Given the description of an element on the screen output the (x, y) to click on. 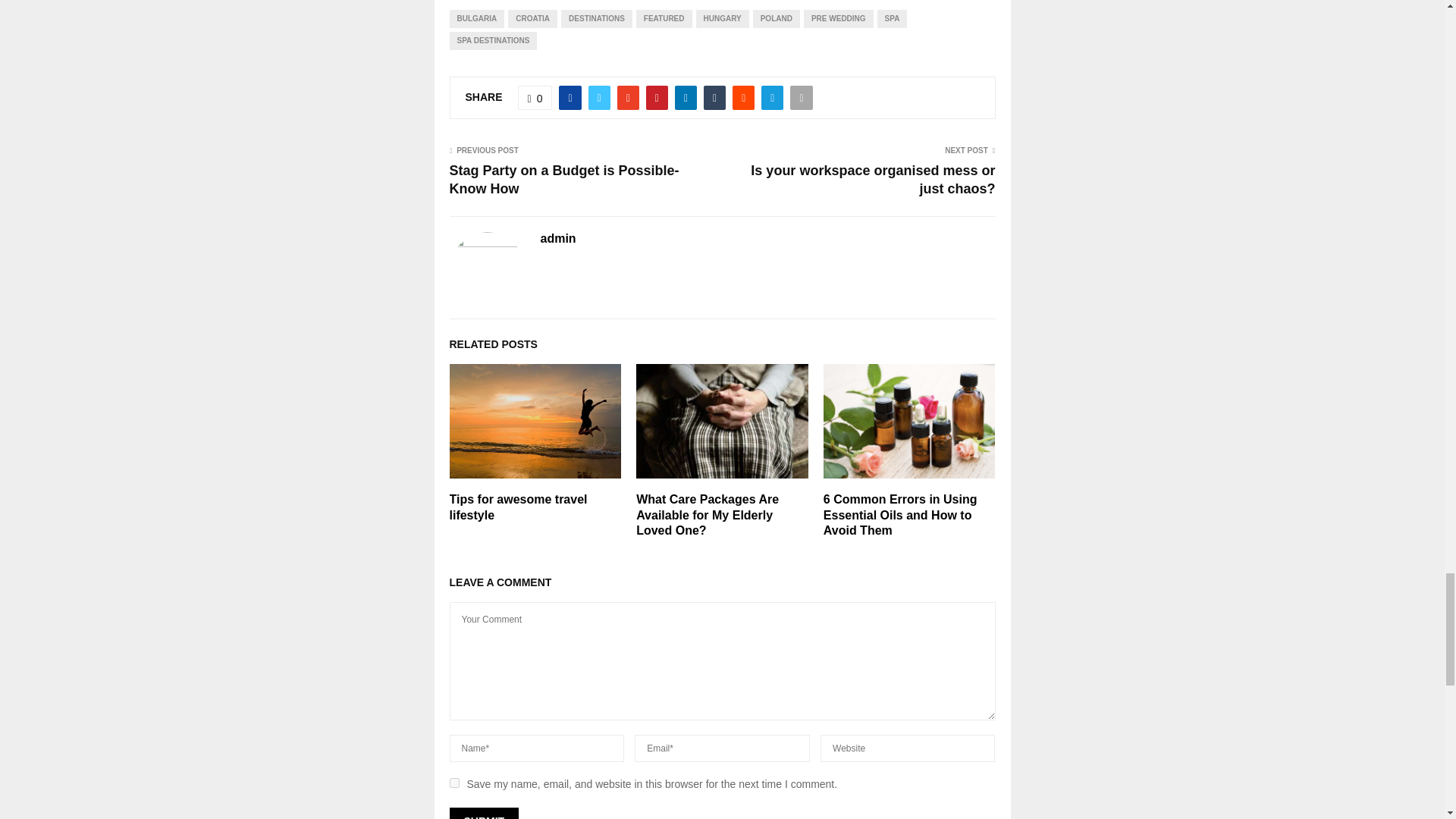
Submit (483, 813)
Posts by admin (557, 238)
Like (535, 97)
yes (453, 782)
